Given the description of an element on the screen output the (x, y) to click on. 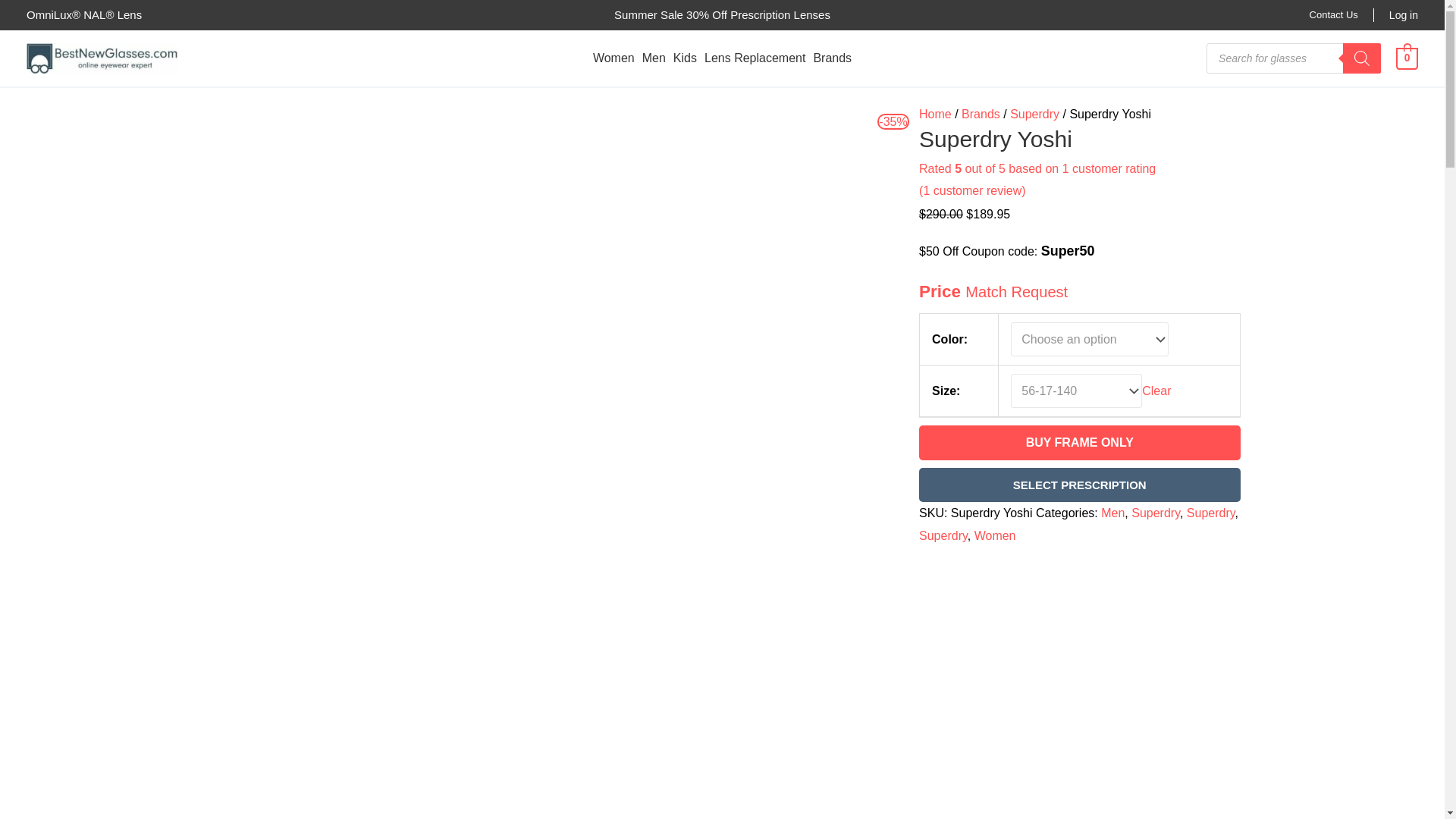
Superdry (1155, 512)
Price Match Request (992, 291)
BUY FRAME ONLY (1079, 442)
Brands (980, 113)
Clear (1155, 390)
Brands (832, 58)
Log in (1403, 15)
Home (935, 113)
Superdry (1034, 113)
Lens (127, 14)
